Given the description of an element on the screen output the (x, y) to click on. 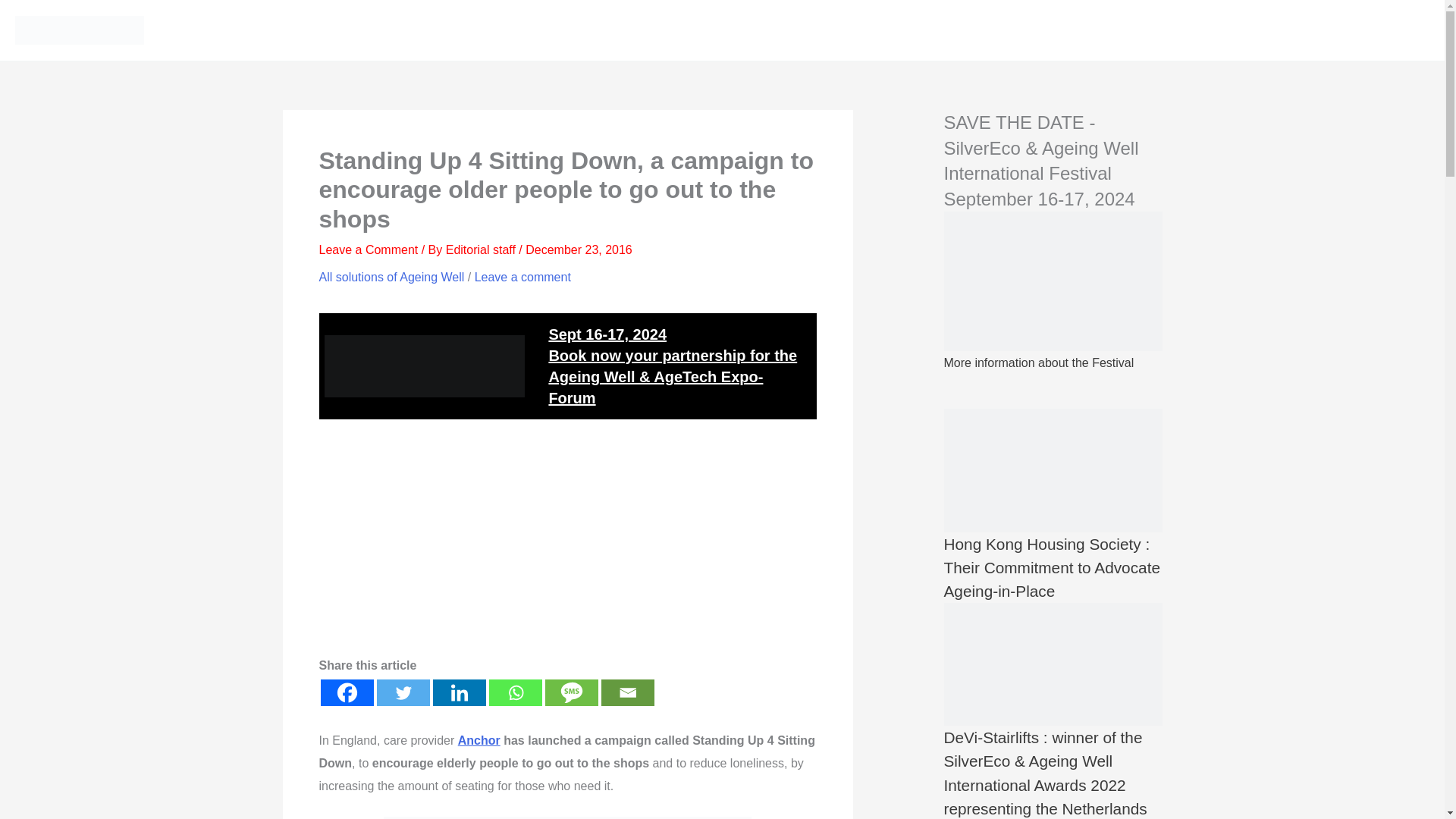
Subscribe our newsletter ! (1284, 29)
PODCASTS (1154, 29)
CONTACT US (1360, 29)
CALENDAR (1214, 29)
FILES (970, 29)
INTERNATIONAL FESTIVAL (1059, 29)
Get all the inside news about Silver Economy (932, 29)
NEWS (932, 29)
NEWSLETTER (1284, 29)
